Given the description of an element on the screen output the (x, y) to click on. 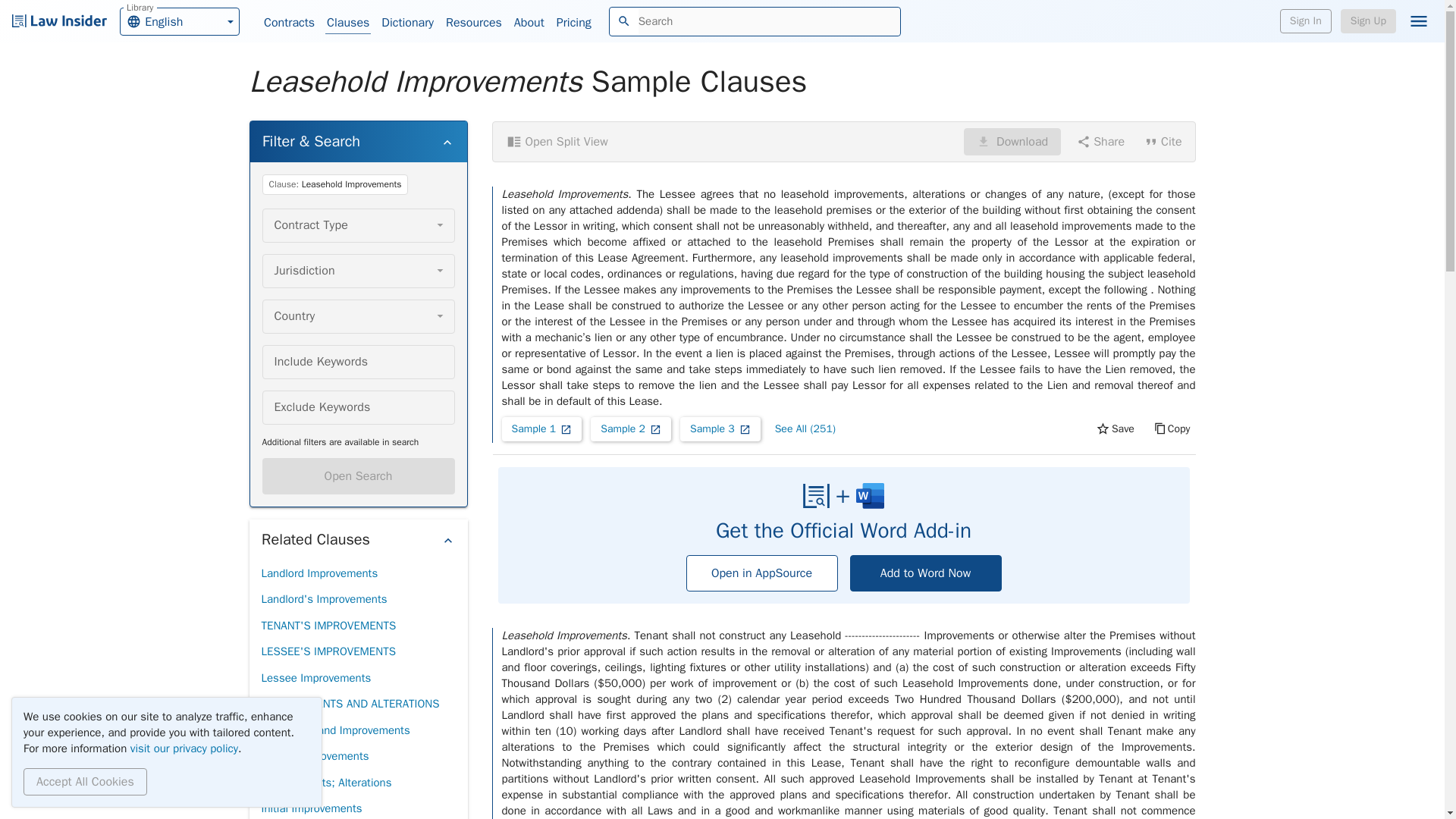
Contracts (179, 20)
Sign Up (288, 23)
Accept All Cookies (1368, 21)
Dictionary (85, 781)
Sign In (407, 23)
Open Search (1305, 21)
Tenant Improvements (358, 475)
About (314, 755)
Landlord's Improvements (529, 23)
